Given the description of an element on the screen output the (x, y) to click on. 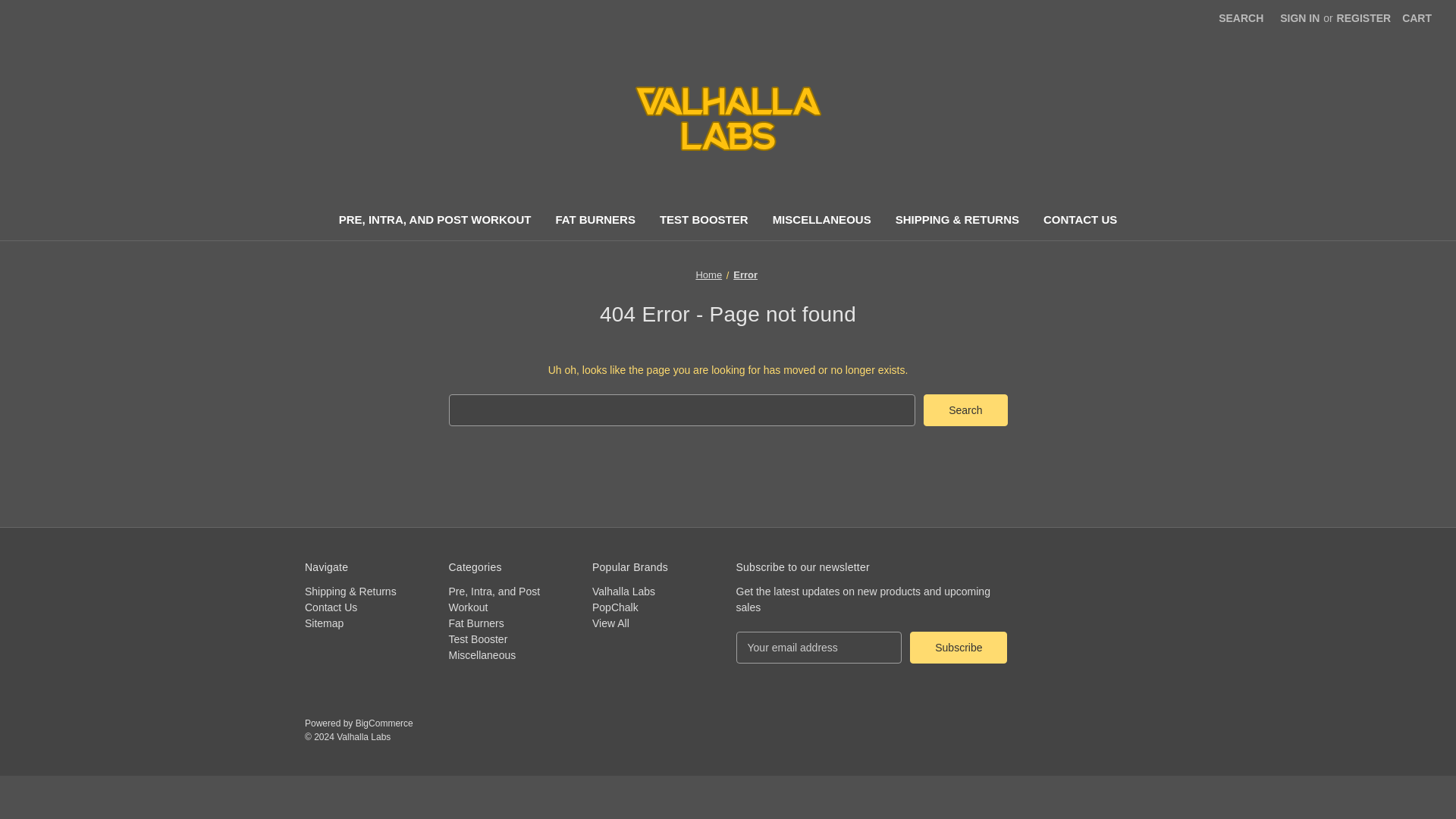
CART (1416, 18)
PopChalk (615, 607)
SIGN IN (1299, 18)
Test Booster (478, 639)
PRE, INTRA, AND POST WORKOUT (434, 221)
Search (965, 409)
Home (708, 274)
CONTACT US (1079, 221)
Subscribe (958, 647)
View All (610, 623)
